Given the description of an element on the screen output the (x, y) to click on. 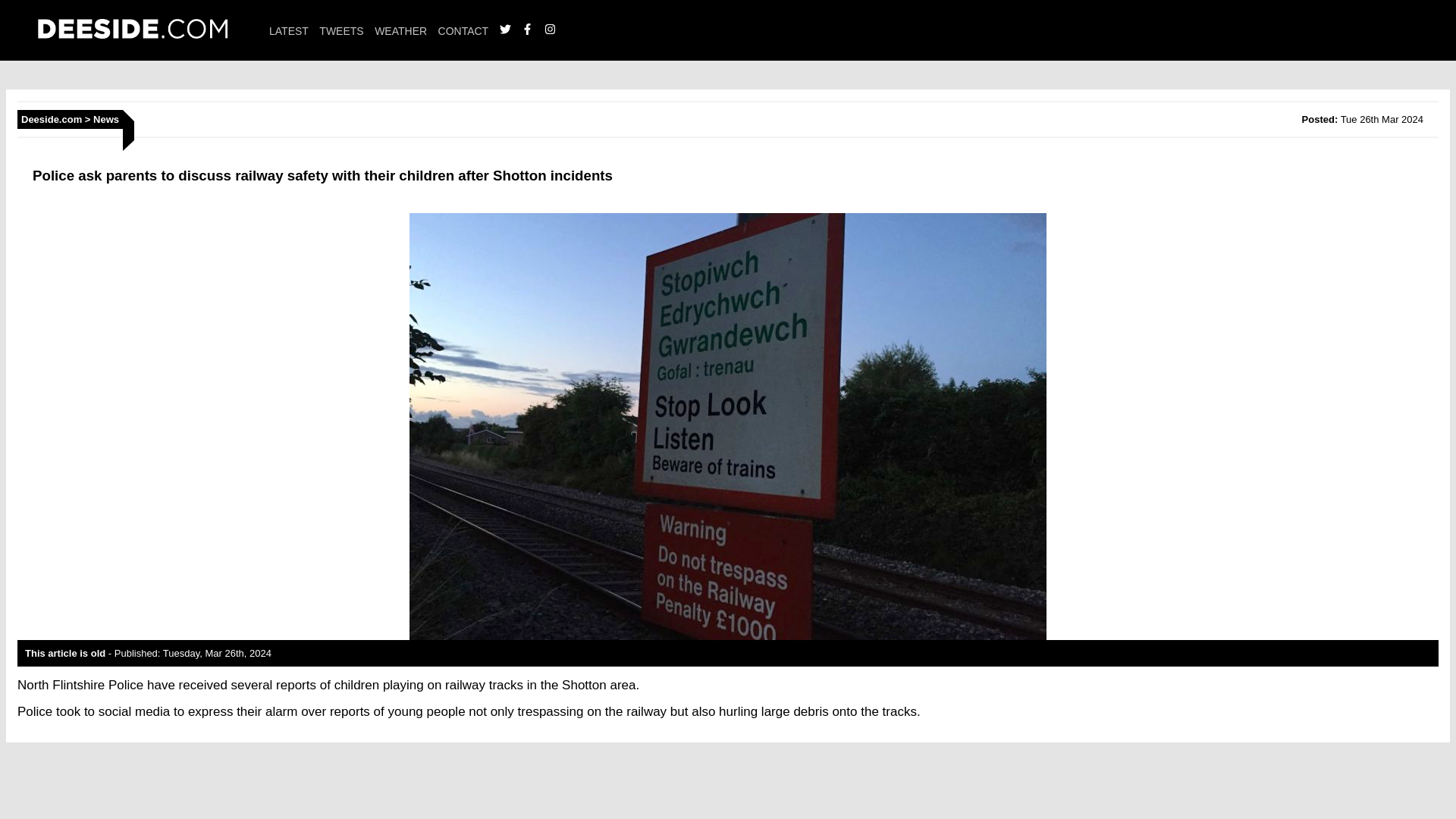
LATEST (288, 30)
TWEETS (340, 30)
WEATHER (400, 30)
CONTACT (463, 30)
